Given the description of an element on the screen output the (x, y) to click on. 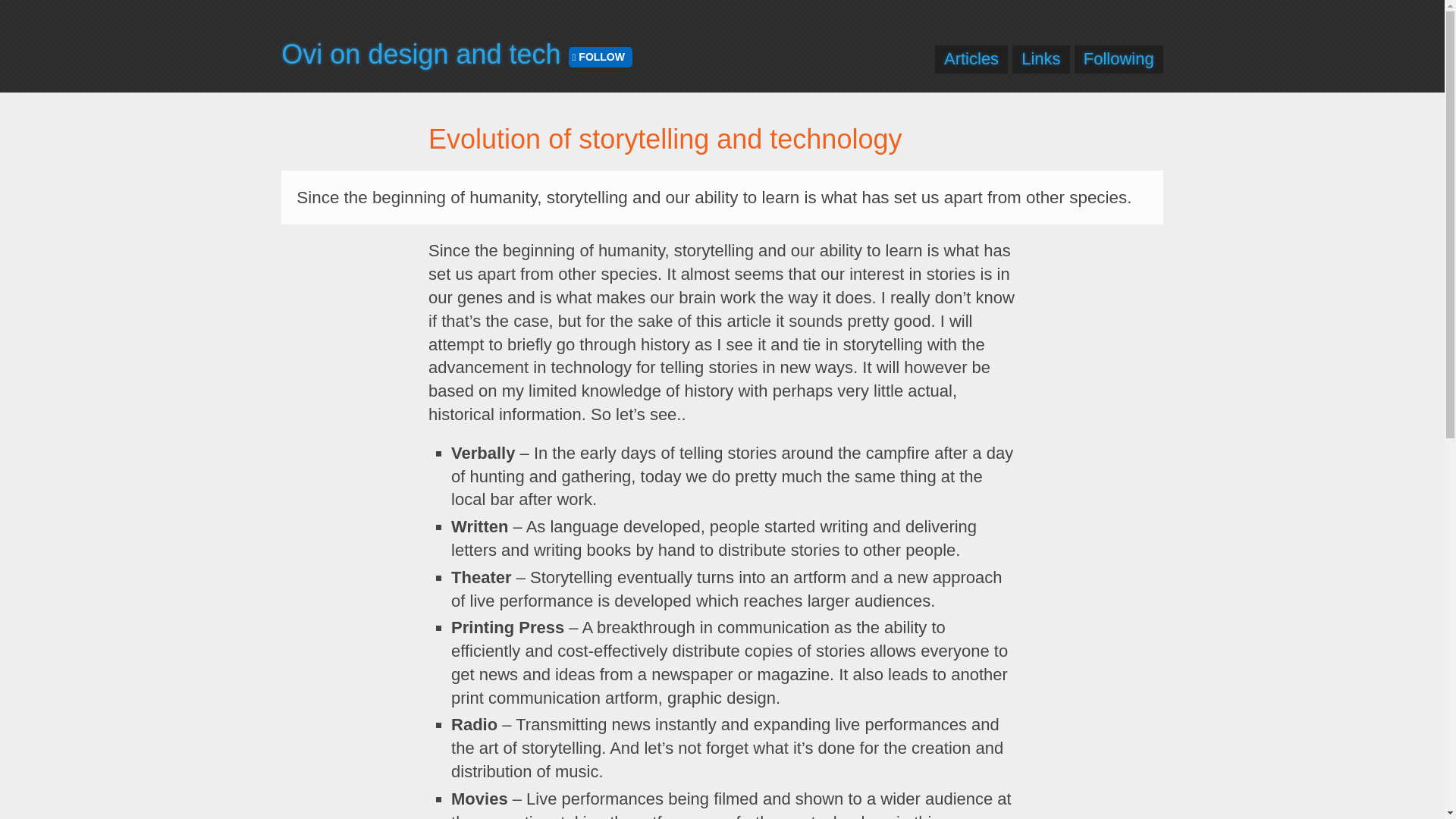
Ovi on design and tech (420, 53)
FOLLOW (600, 56)
Links (1040, 58)
Articles (970, 58)
Following (1118, 58)
